Given the description of an element on the screen output the (x, y) to click on. 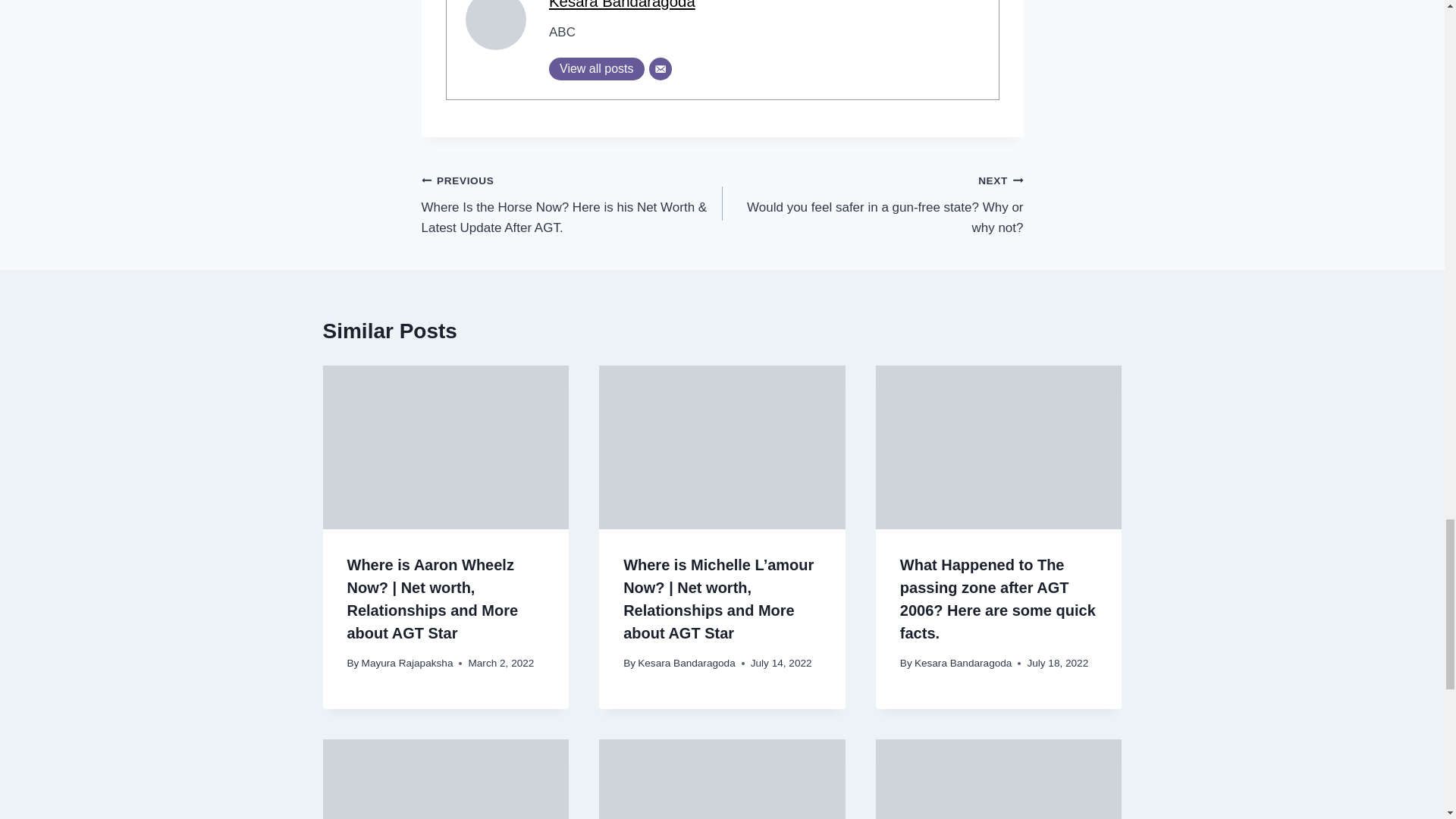
View all posts (596, 68)
View all posts (596, 68)
Kesara Bandaragoda (621, 4)
Kesara Bandaragoda (621, 4)
